Given the description of an element on the screen output the (x, y) to click on. 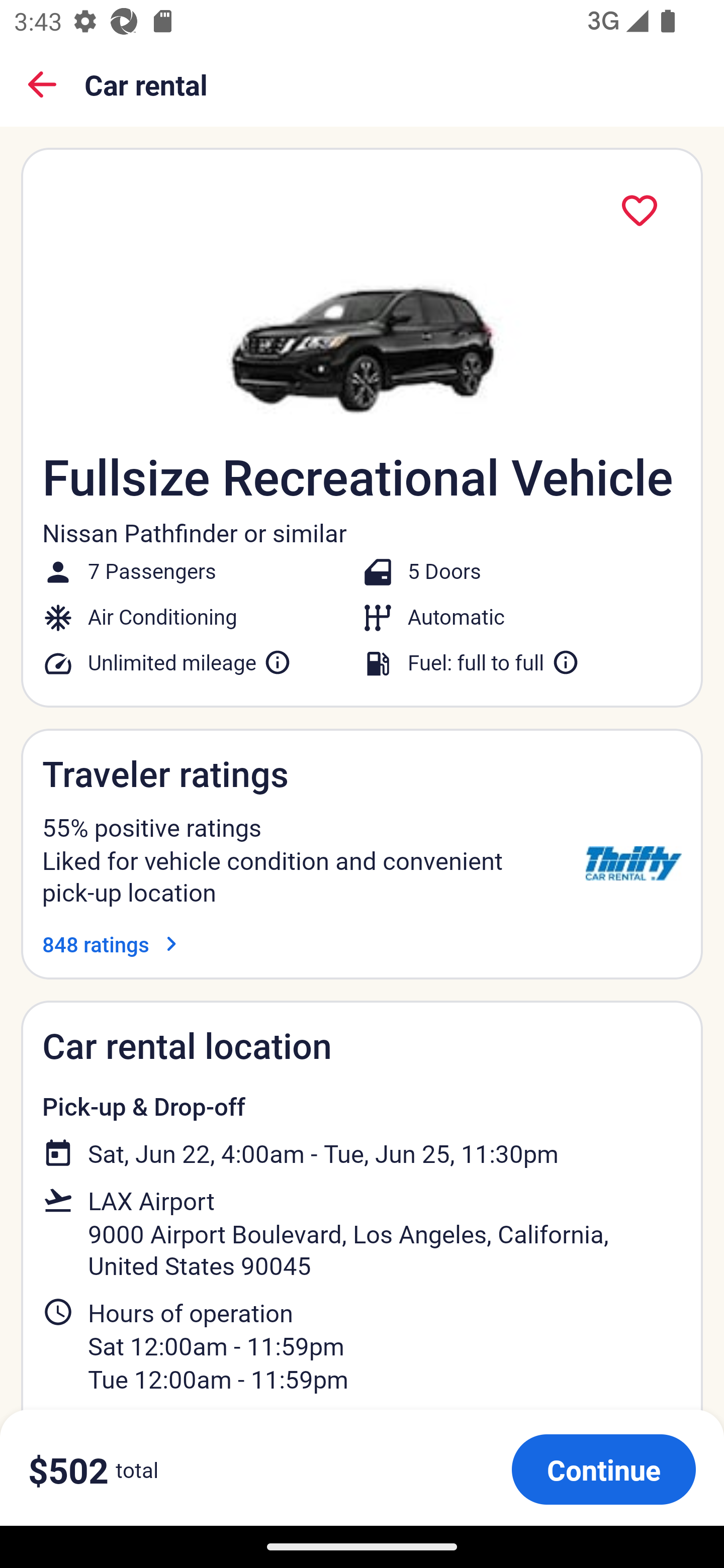
Go back to car rental search results (42, 84)
Unlimited mileage (189, 662)
Fuel: full to full (493, 662)
848 ratings 848 ratings Link (113, 943)
Continue (603, 1468)
